Given the description of an element on the screen output the (x, y) to click on. 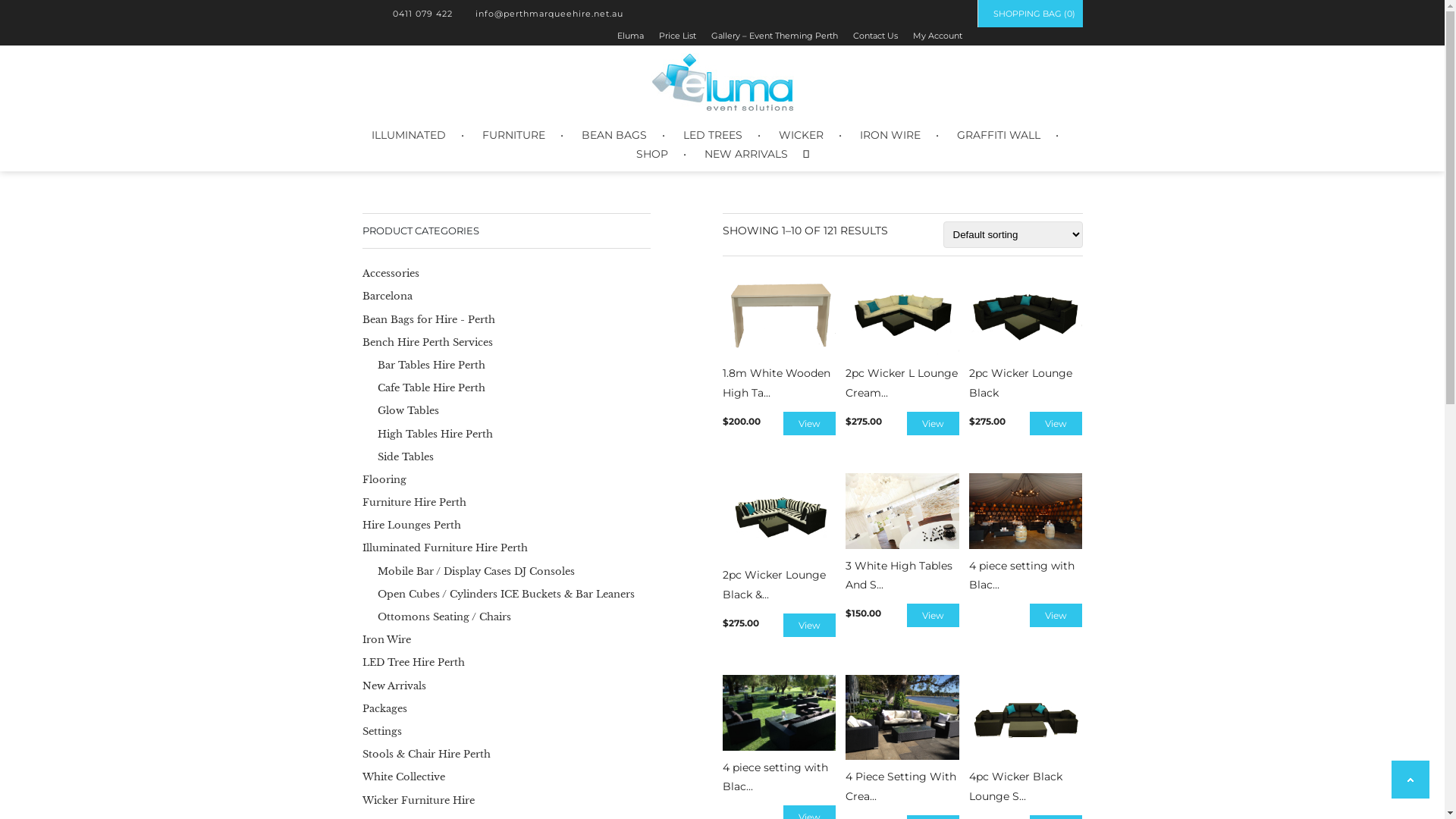
Hire Lounges Perth Element type: text (411, 524)
2pc Wicker Lounge Black
$275.00 Element type: text (1025, 336)
4pc Wicker Black Lounge S...
$275.00 Element type: text (1025, 740)
SHOP Element type: text (651, 153)
Stools & Chair Hire Perth Element type: text (426, 753)
Iron Wire Element type: text (386, 639)
Bar Tables Hire Perth Element type: text (431, 364)
2pc Wicker L Lounge Cream...
$275.00 Element type: text (902, 336)
Illuminated Furniture Hire Perth Element type: text (444, 547)
View Element type: text (809, 423)
View Element type: text (809, 625)
New Arrivals Element type: text (394, 685)
Contact Us Element type: text (874, 35)
Wicker Furniture Hire Element type: text (418, 799)
4 piece setting with Blac... Element type: text (778, 735)
ILLUMINATED Element type: text (408, 134)
1.8m White Wooden High Ta...
$200.00 Element type: text (778, 336)
View Element type: text (932, 615)
LED TREES Element type: text (711, 134)
Price List Element type: text (676, 35)
Eluma Element type: text (630, 35)
2pc Wicker Lounge Black &...
$275.00 Element type: text (778, 538)
Ottomons Seating / Chairs Element type: text (444, 616)
WICKER Element type: text (800, 134)
Cafe Table Hire Perth Element type: text (431, 387)
4 piece setting with Blac... Element type: text (1025, 533)
SHOPPING BAG (0) Element type: text (1029, 13)
LED Tree Hire Perth Element type: text (413, 661)
View Element type: text (1055, 615)
IRON WIRE Element type: text (889, 134)
Accessories Element type: text (390, 272)
info@perthmarqueehire.net.au Element type: text (544, 13)
High Tables Hire Perth Element type: text (434, 433)
View Element type: text (932, 423)
NEW ARRIVALS Element type: text (745, 153)
Bean Bags for Hire - Perth Element type: text (428, 319)
Settings Element type: text (381, 730)
FURNITURE Element type: text (513, 134)
3 White High Tables And S...
$150.00 Element type: text (902, 533)
Open Cubes / Cylinders ICE Buckets & Bar Leaners Element type: text (505, 593)
Packages Element type: text (384, 708)
Side Tables Element type: text (405, 456)
My Account Element type: text (937, 35)
GRAFFITI WALL Element type: text (998, 134)
View Element type: text (1055, 423)
BEAN BAGS Element type: text (613, 134)
Bench Hire Perth Services Element type: text (427, 341)
Furniture Hire Perth Element type: text (414, 501)
4 Piece Setting With Crea... Element type: text (902, 740)
0411 079 422 Element type: text (418, 13)
Glow Tables Element type: text (408, 410)
Mobile Bar / Display Cases DJ Consoles Element type: text (475, 570)
Flooring Element type: text (384, 479)
Barcelona Element type: text (387, 295)
White Collective Element type: text (403, 776)
